Given the description of an element on the screen output the (x, y) to click on. 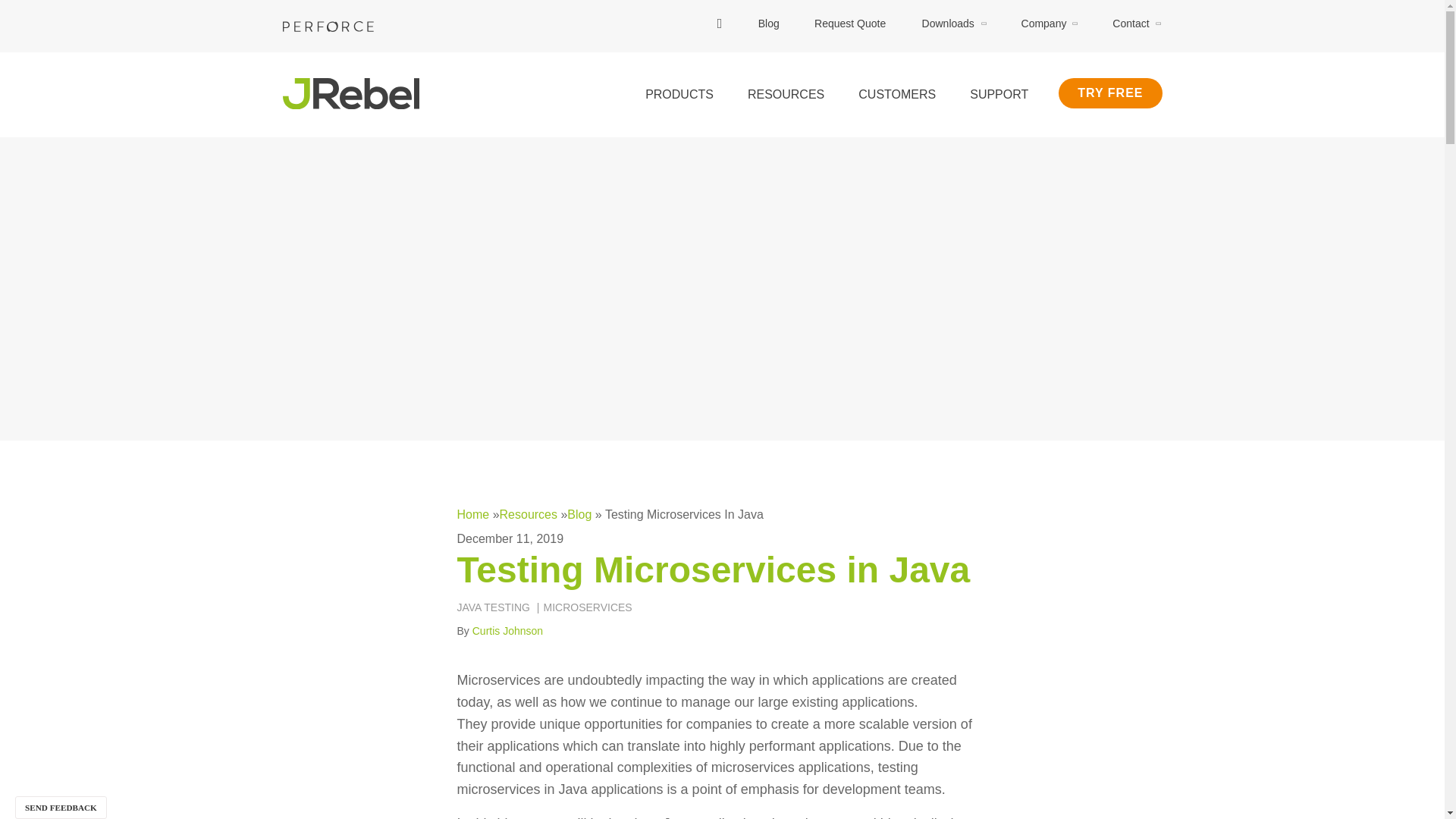
CUSTOMERS (896, 94)
Contact (1135, 23)
Request Quote (850, 23)
Apply (757, 38)
Apply (757, 38)
TRY FREE (1109, 92)
Company (1050, 23)
Perforce (327, 26)
Home (350, 92)
Downloads (954, 23)
